Given the description of an element on the screen output the (x, y) to click on. 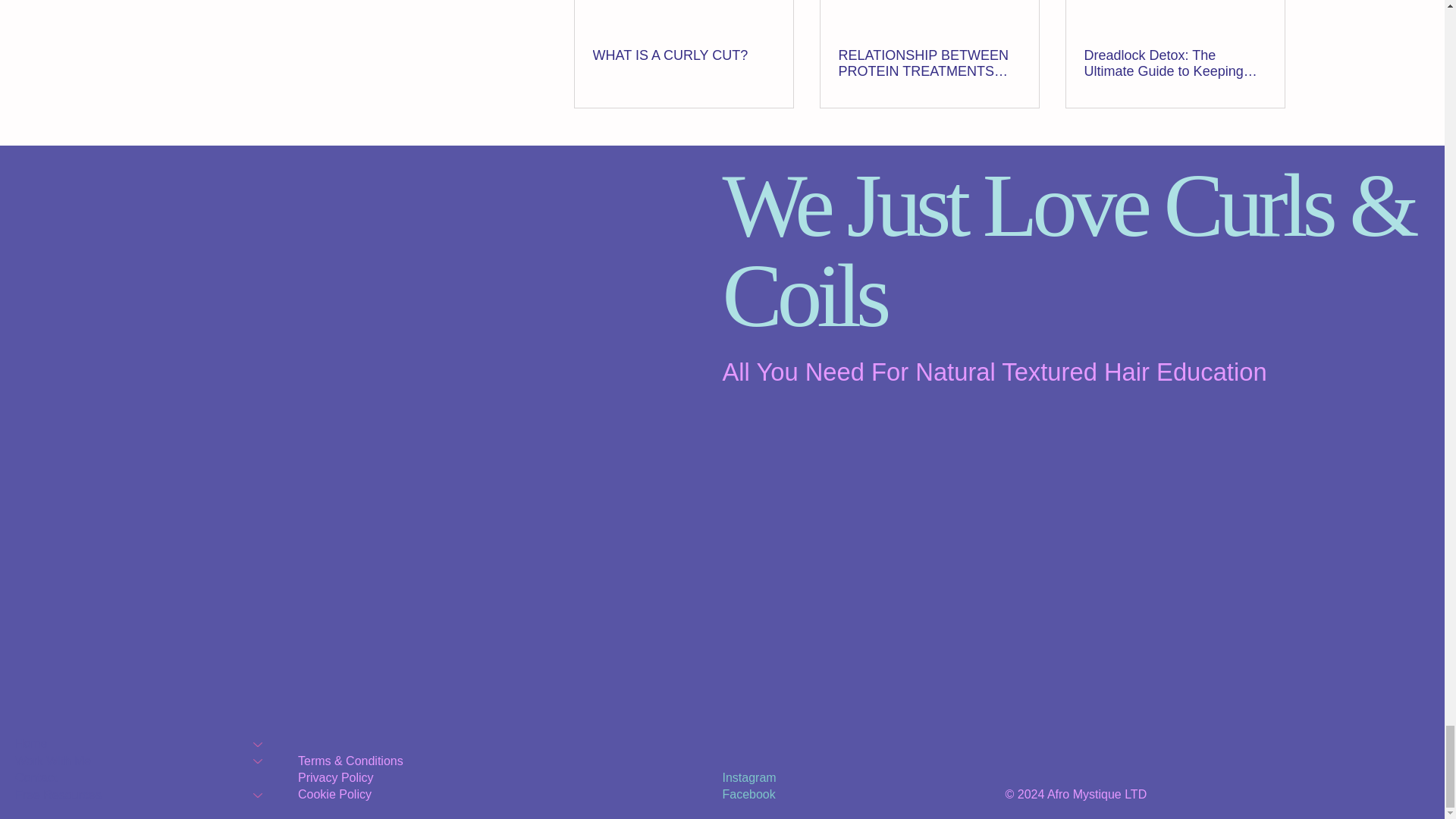
WHAT IS A CURLY CUT? (683, 55)
RELATIONSHIP BETWEEN PROTEIN TREATMENTS AND CURL DEFINITION (929, 63)
Home (123, 743)
